Given the description of an element on the screen output the (x, y) to click on. 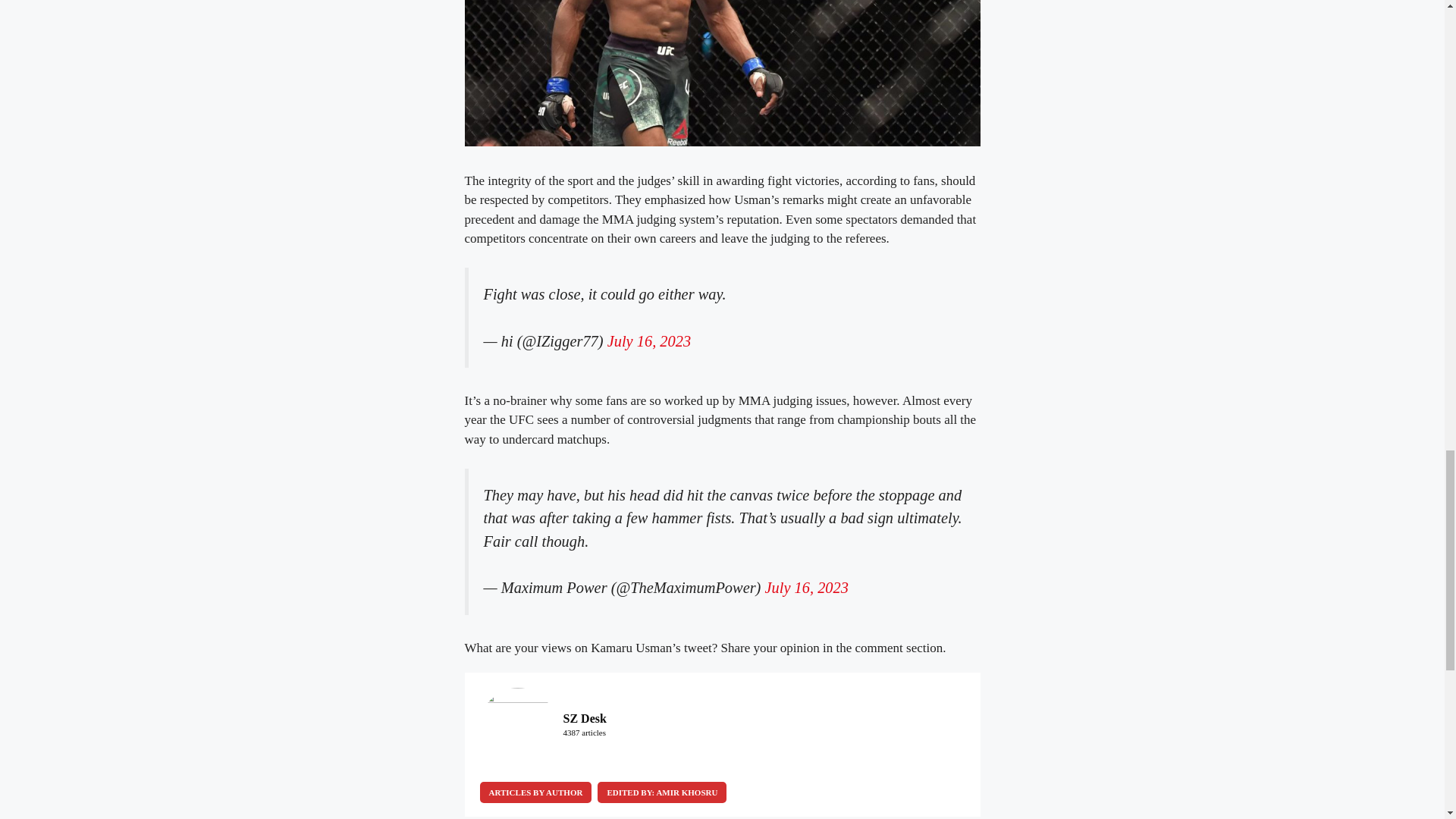
ARTICLES BY AUTHOR (535, 792)
July 16, 2023 (806, 587)
July 16, 2023 (648, 340)
EDITED BY: AMIR KHOSRU (661, 792)
